Given the description of an element on the screen output the (x, y) to click on. 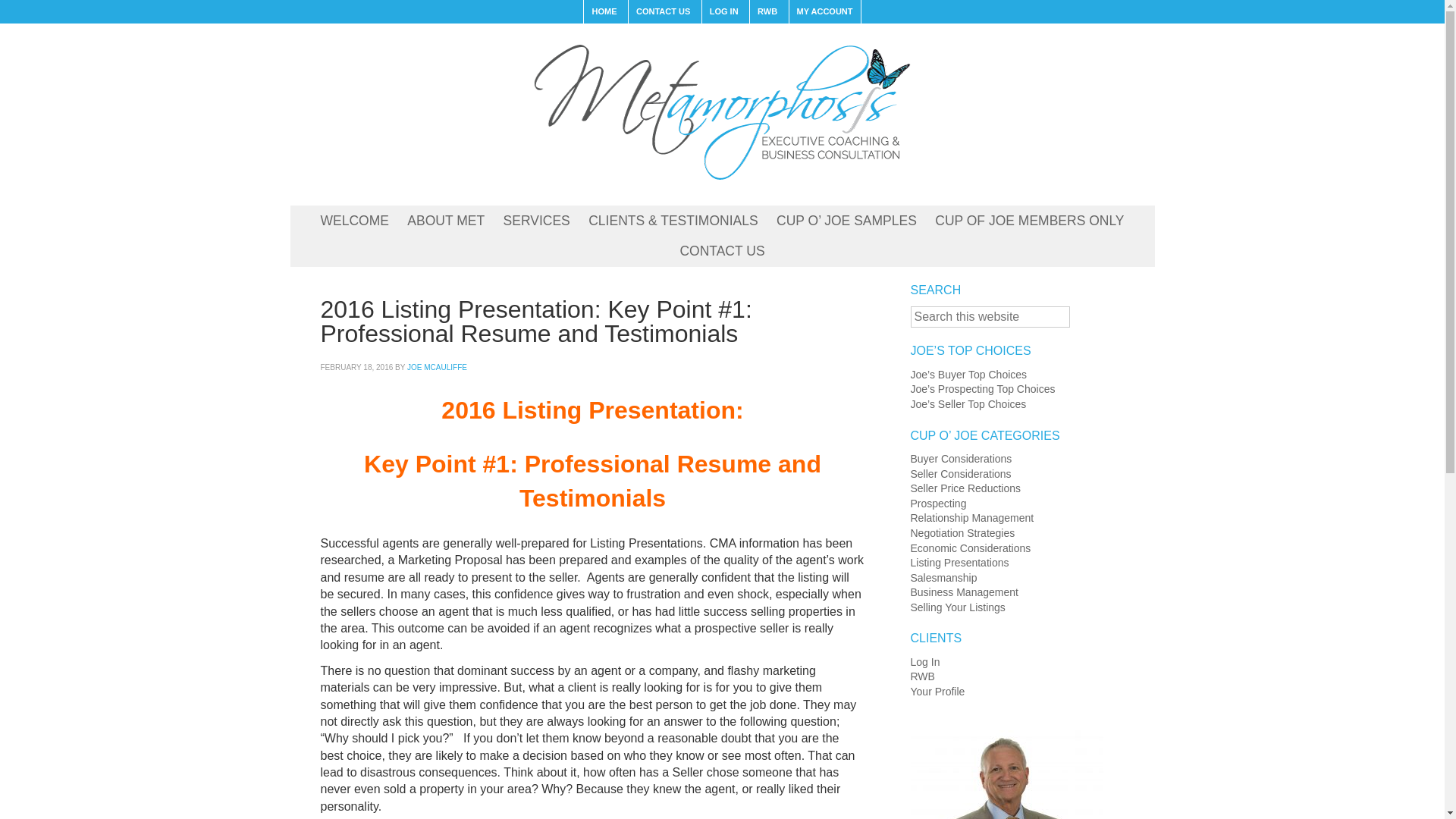
LOG IN (723, 11)
HOME (603, 11)
JOE MCAULIFFE (437, 367)
MY ACCOUNT (824, 11)
ABOUT MET (445, 220)
SERVICES (537, 220)
WELCOME (354, 220)
CONTACT US (721, 250)
CONTACT US (662, 11)
